Given the description of an element on the screen output the (x, y) to click on. 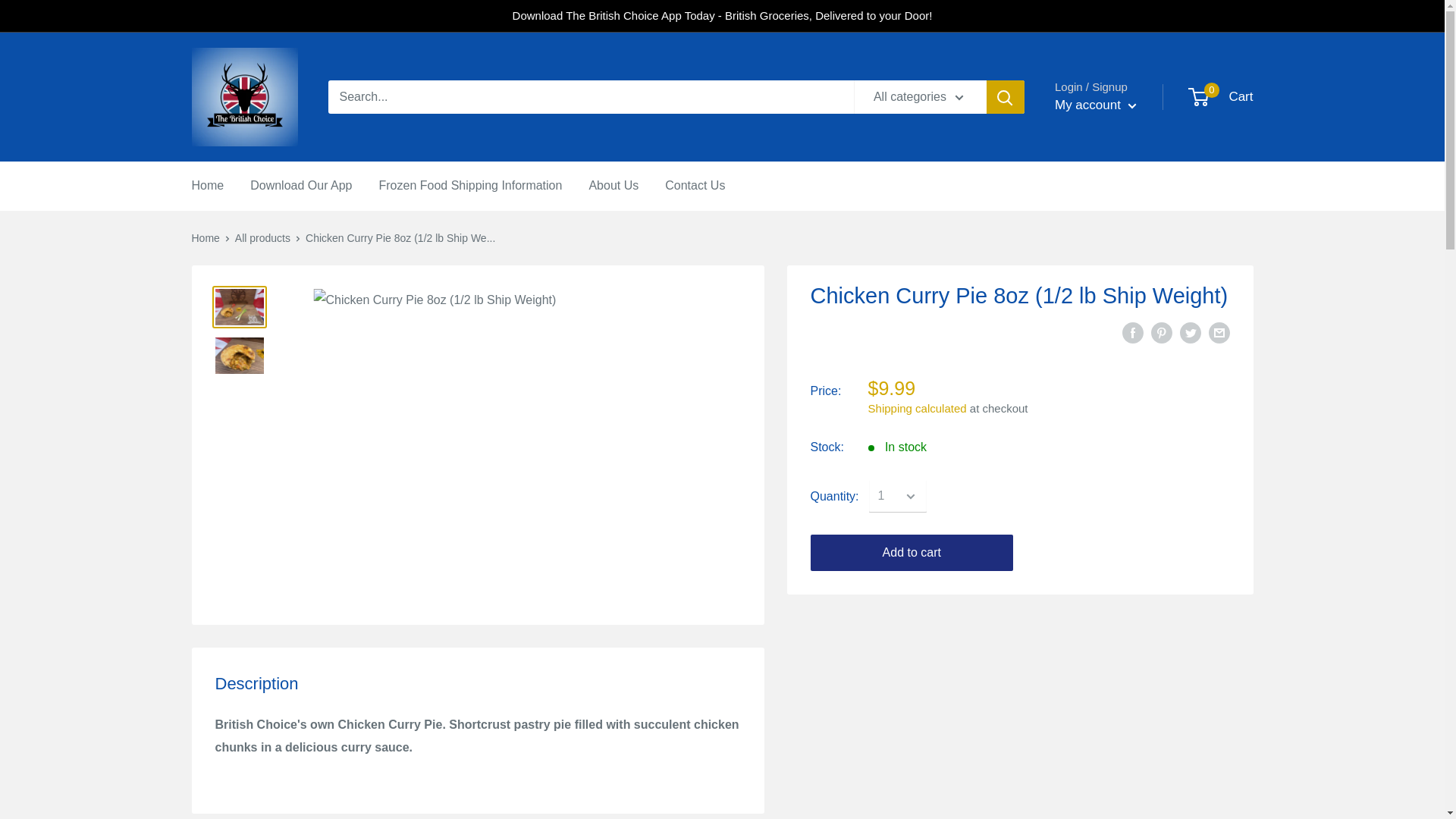
Download Our App (301, 185)
Home (204, 237)
My account (1095, 105)
Home (207, 185)
Frozen Food Shipping Information (470, 185)
About Us (613, 185)
All products (261, 237)
Shipping calculated (916, 408)
Contact Us (695, 185)
